Given the description of an element on the screen output the (x, y) to click on. 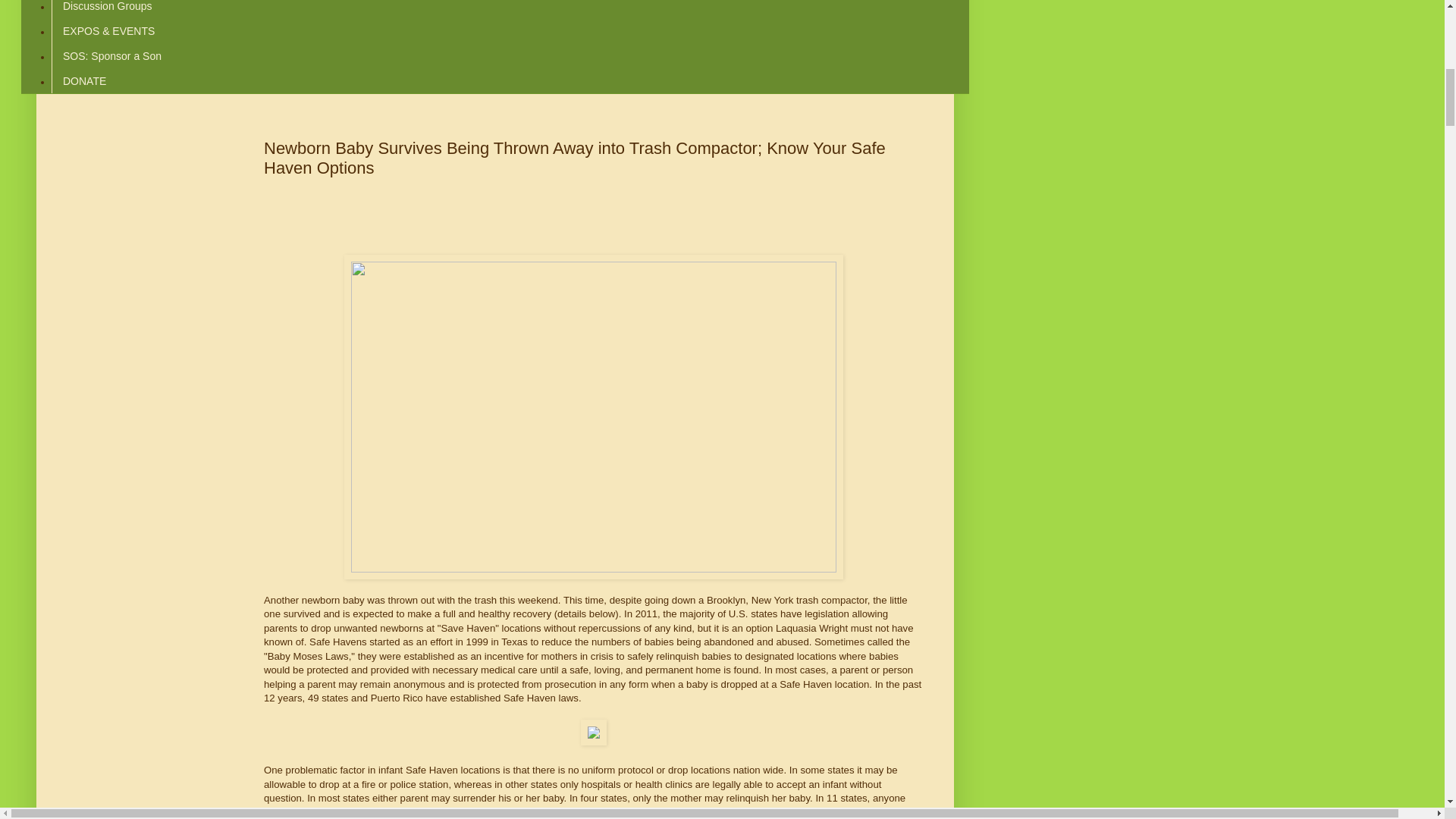
DONATE (83, 80)
Discussion Groups (106, 9)
SOS: Sponsor a Son (110, 56)
